Given the description of an element on the screen output the (x, y) to click on. 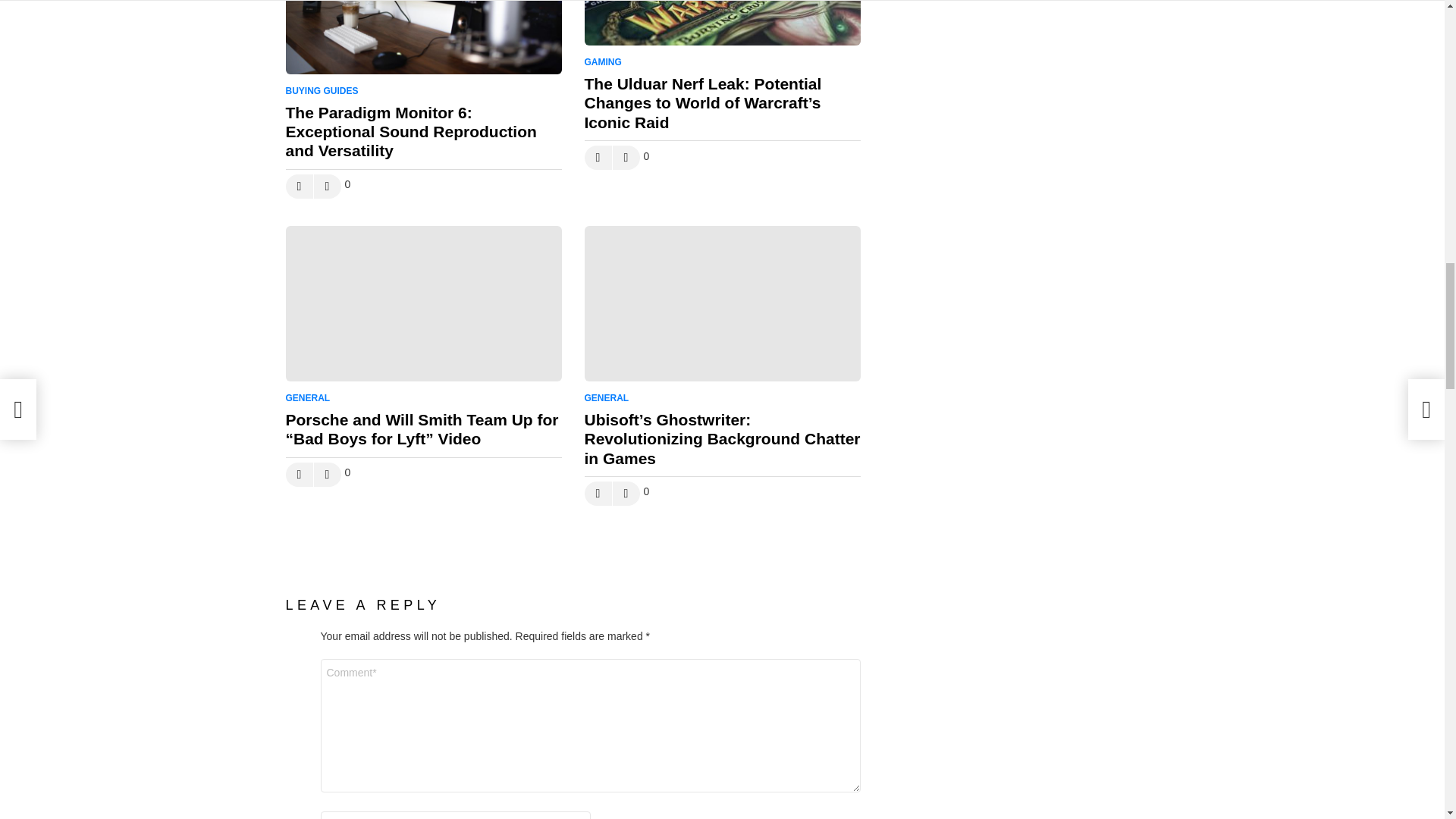
Downvote (626, 157)
Upvote (299, 186)
GAMING (605, 61)
Downvote (327, 186)
Downvote (327, 186)
BUYING GUIDES (324, 90)
Upvote (299, 186)
Upvote (597, 157)
GENERAL (310, 397)
Downvote (626, 157)
Upvote (597, 157)
